Given the description of an element on the screen output the (x, y) to click on. 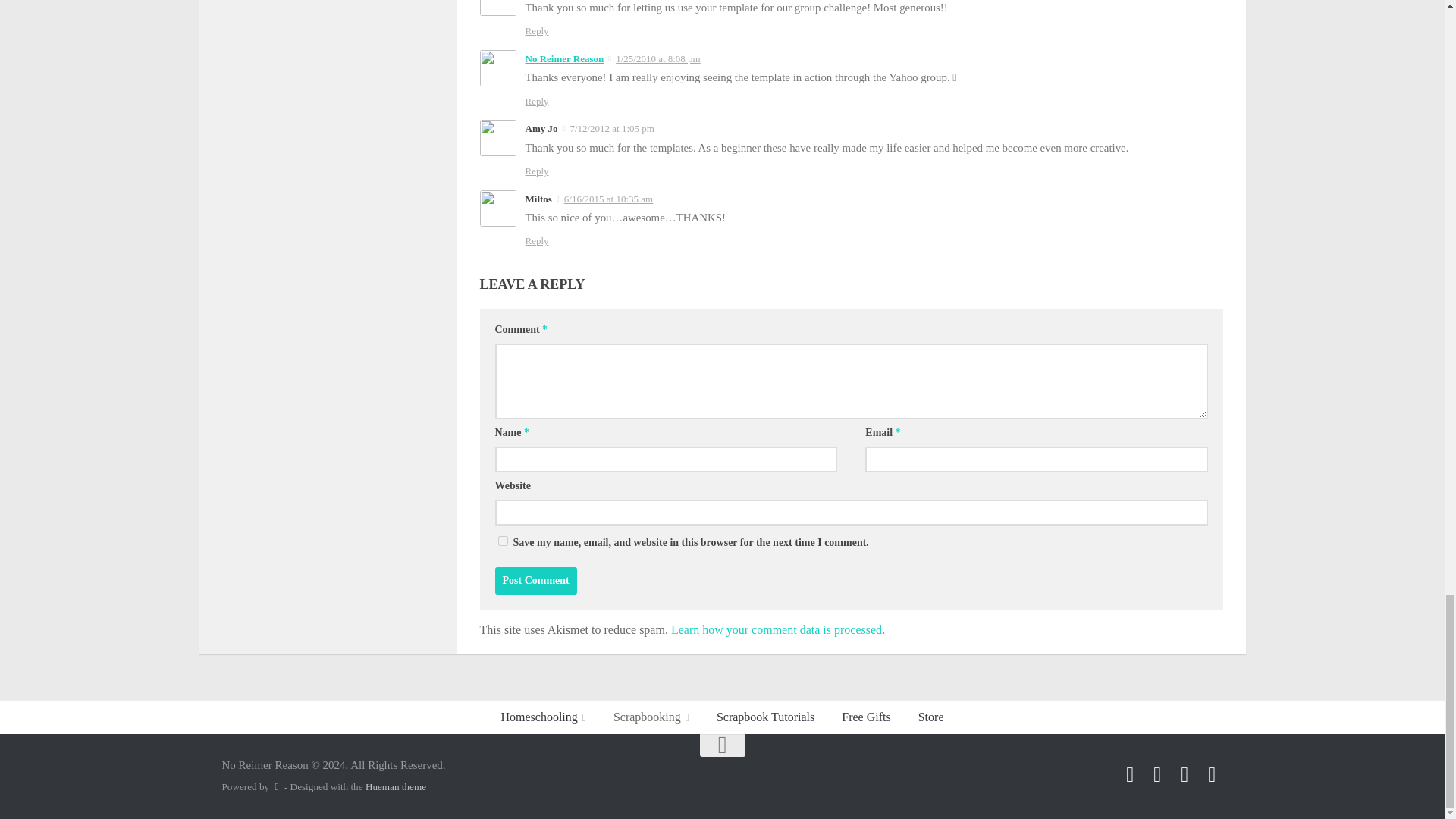
Post Comment (535, 580)
Powered by WordPress (275, 786)
Hueman theme (395, 786)
yes (501, 541)
